Given the description of an element on the screen output the (x, y) to click on. 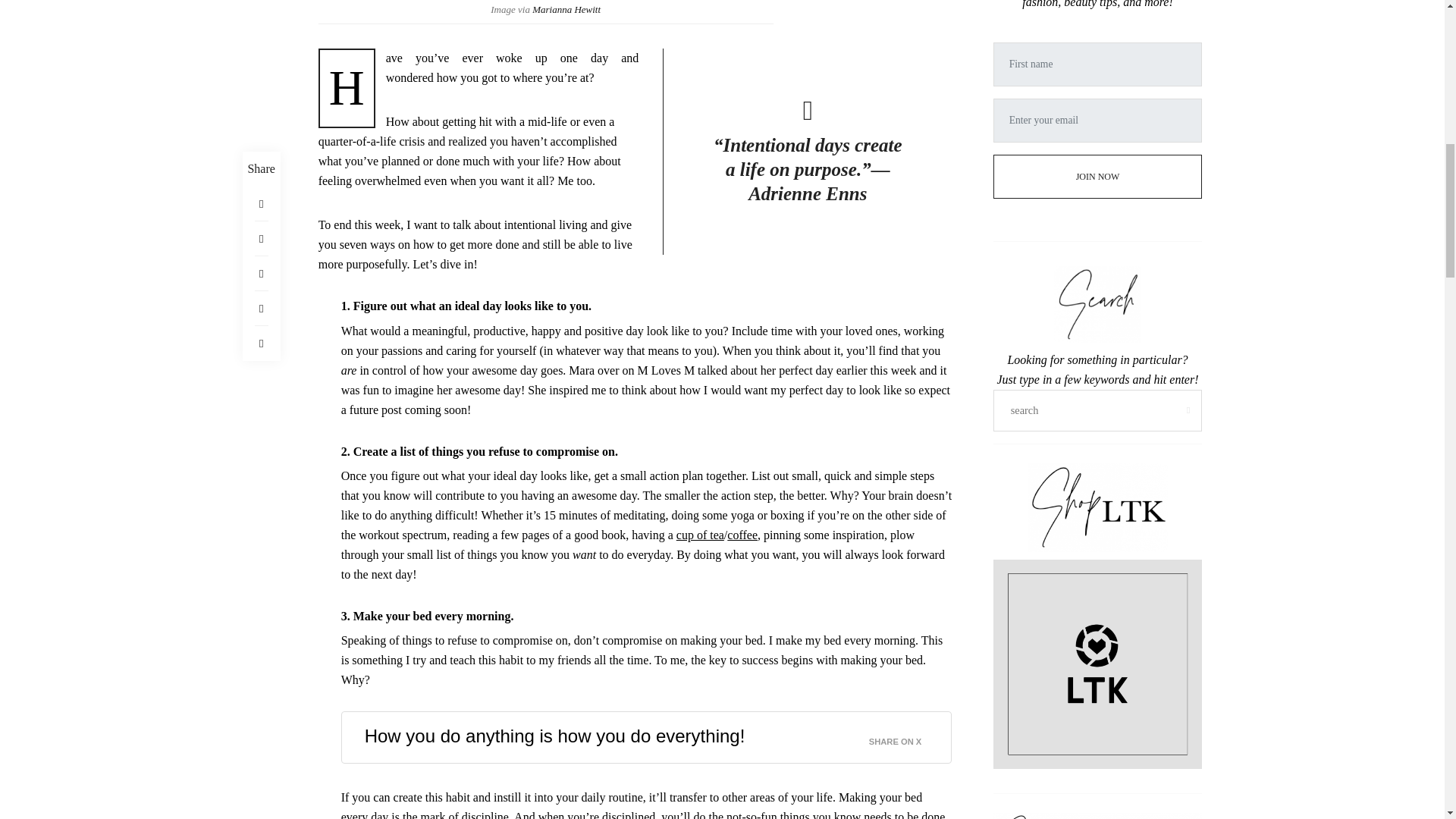
Join Now (1097, 153)
